Given the description of an element on the screen output the (x, y) to click on. 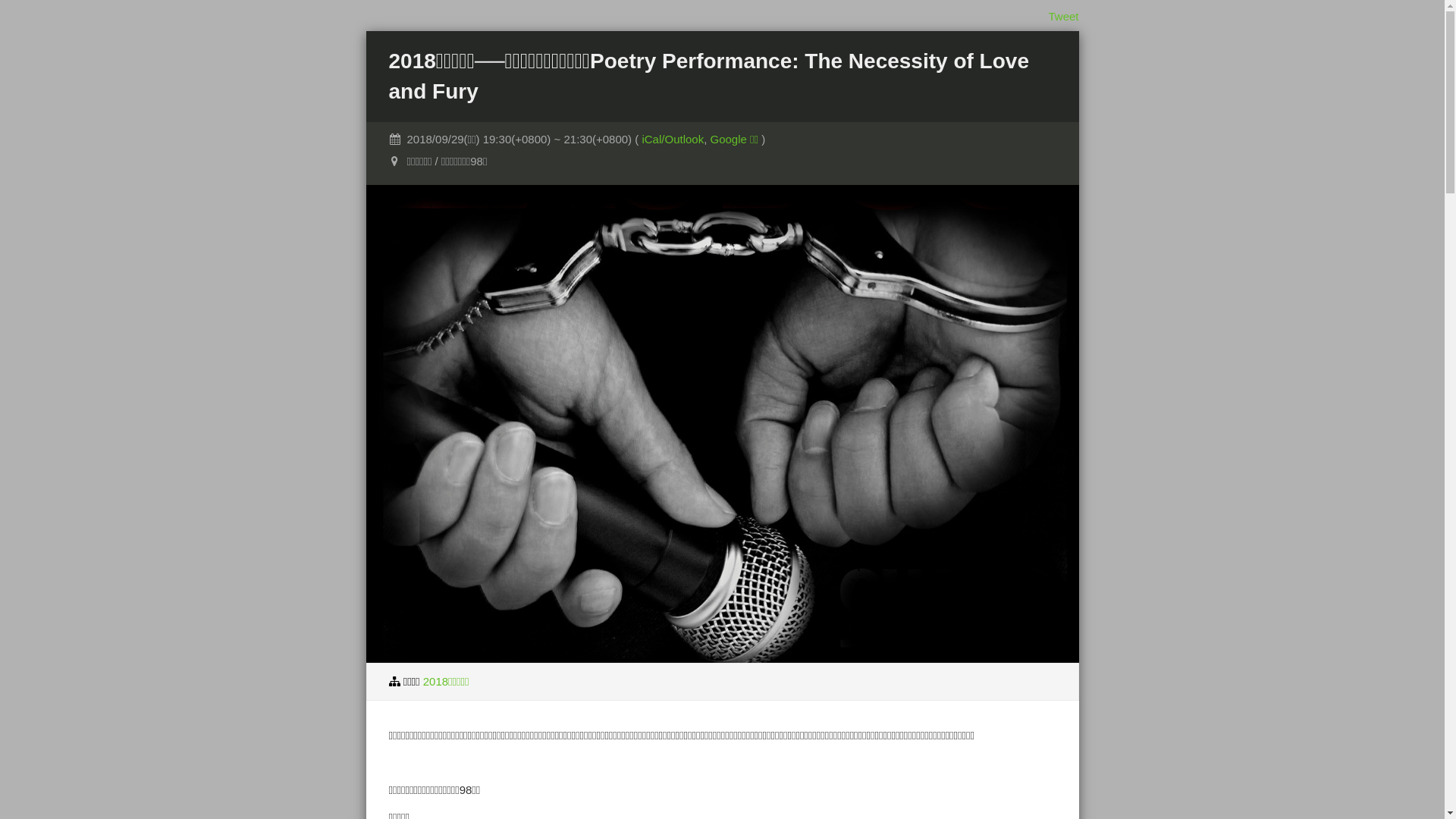
Tweet Element type: text (1063, 15)
iCal/Outlook Element type: text (672, 138)
